Given the description of an element on the screen output the (x, y) to click on. 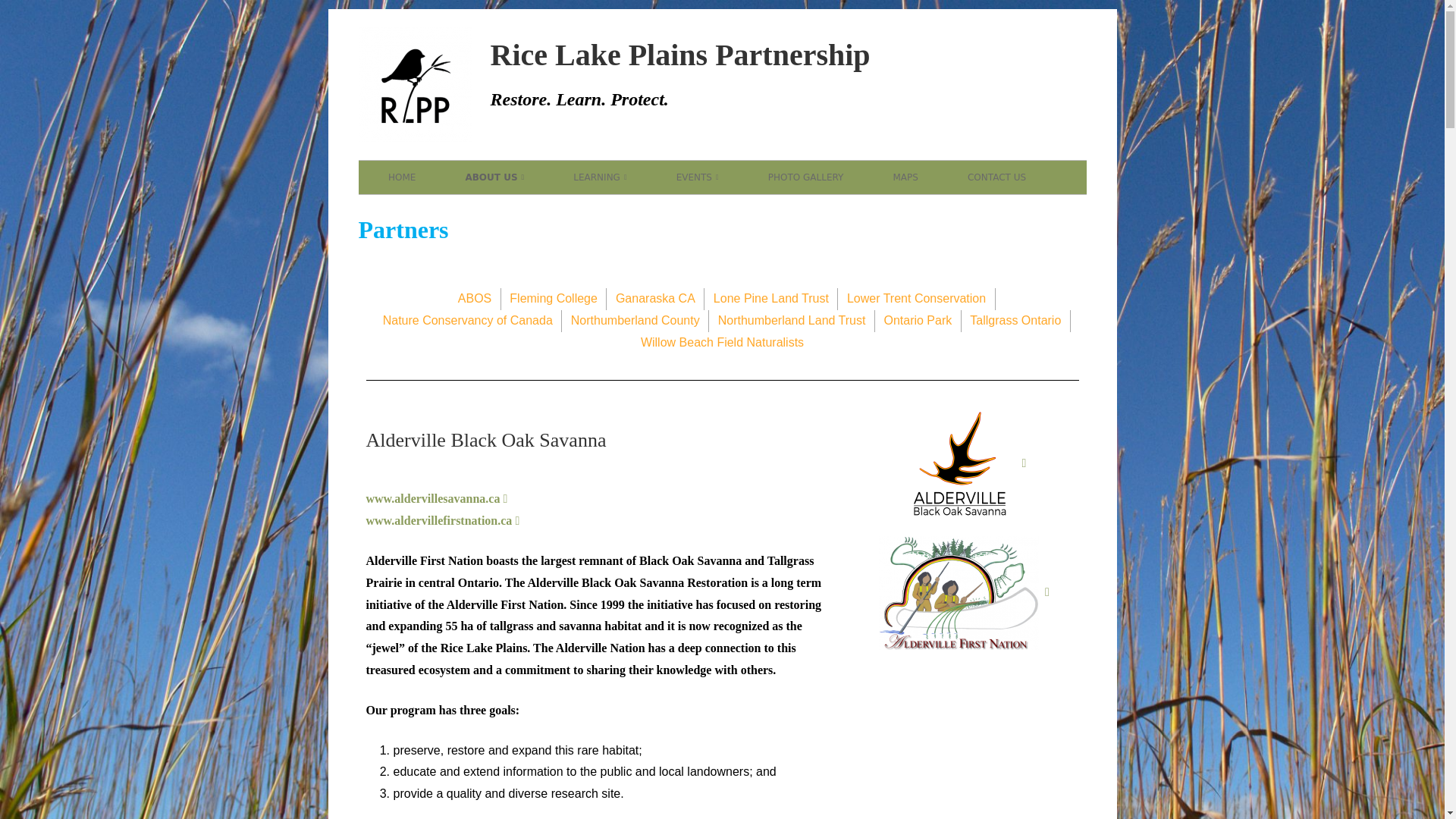
CALENDAR (755, 209)
ABOS (475, 299)
Lower Trent Conservation (916, 299)
www.aldervillesavanna.ca (436, 498)
CONTACT US (996, 177)
PARTNERS (543, 209)
Nature Conservancy of Canada (467, 321)
ABOUT US (494, 177)
Ontario Park (917, 321)
Rice Lake Plains Partnership (679, 55)
Ganaraska CA (655, 299)
PHOTO GALLERY (805, 177)
EVENTS (697, 177)
Willow Beach Field Naturalists (721, 342)
Northumberland Land Trust (791, 321)
